Given the description of an element on the screen output the (x, y) to click on. 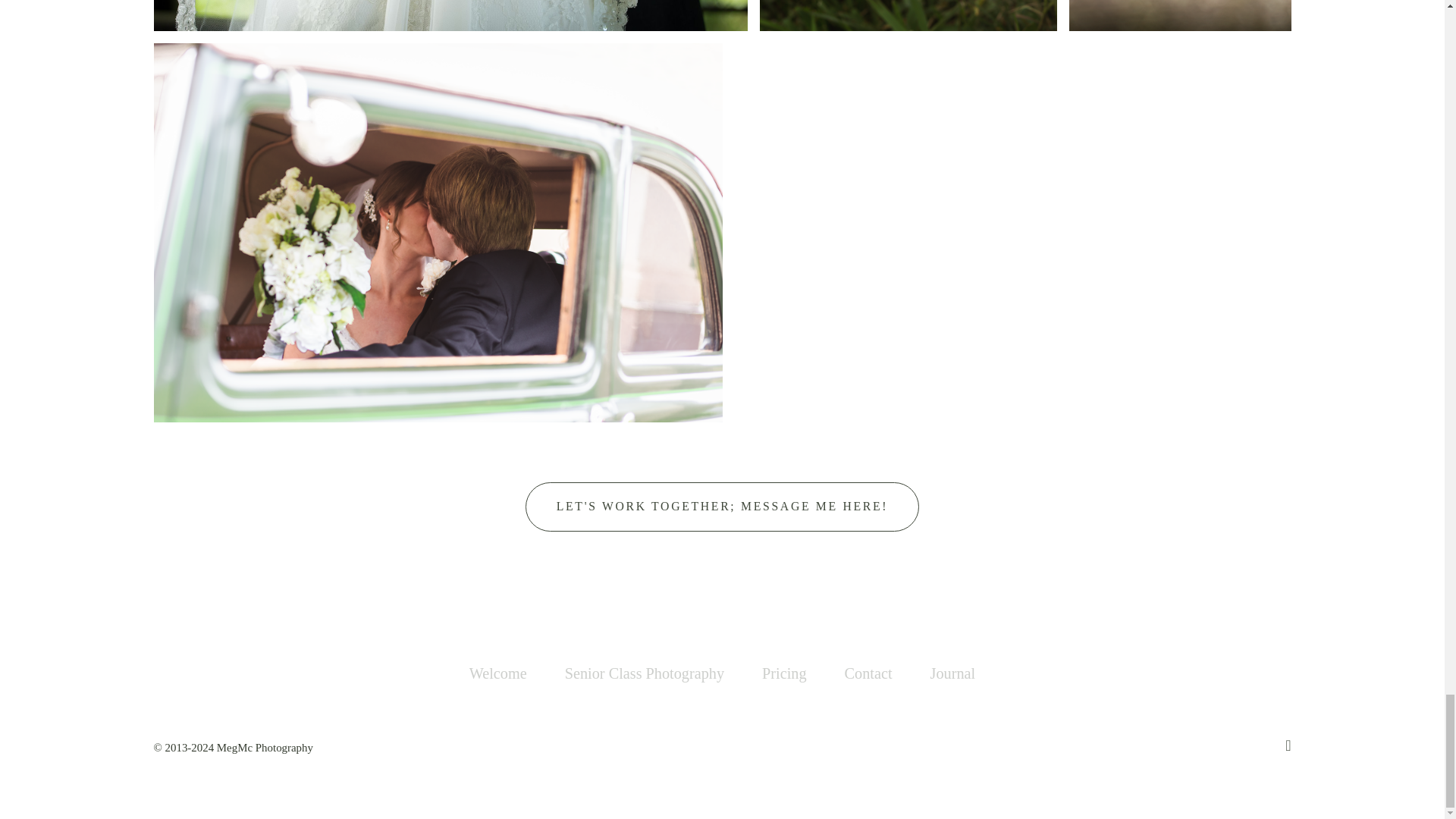
LET'S WORK TOGETHER; MESSAGE ME HERE! (721, 506)
Pricing (783, 672)
Welcome (497, 672)
Senior Class Photography (643, 672)
Journal (952, 672)
Contact (868, 672)
